Given the description of an element on the screen output the (x, y) to click on. 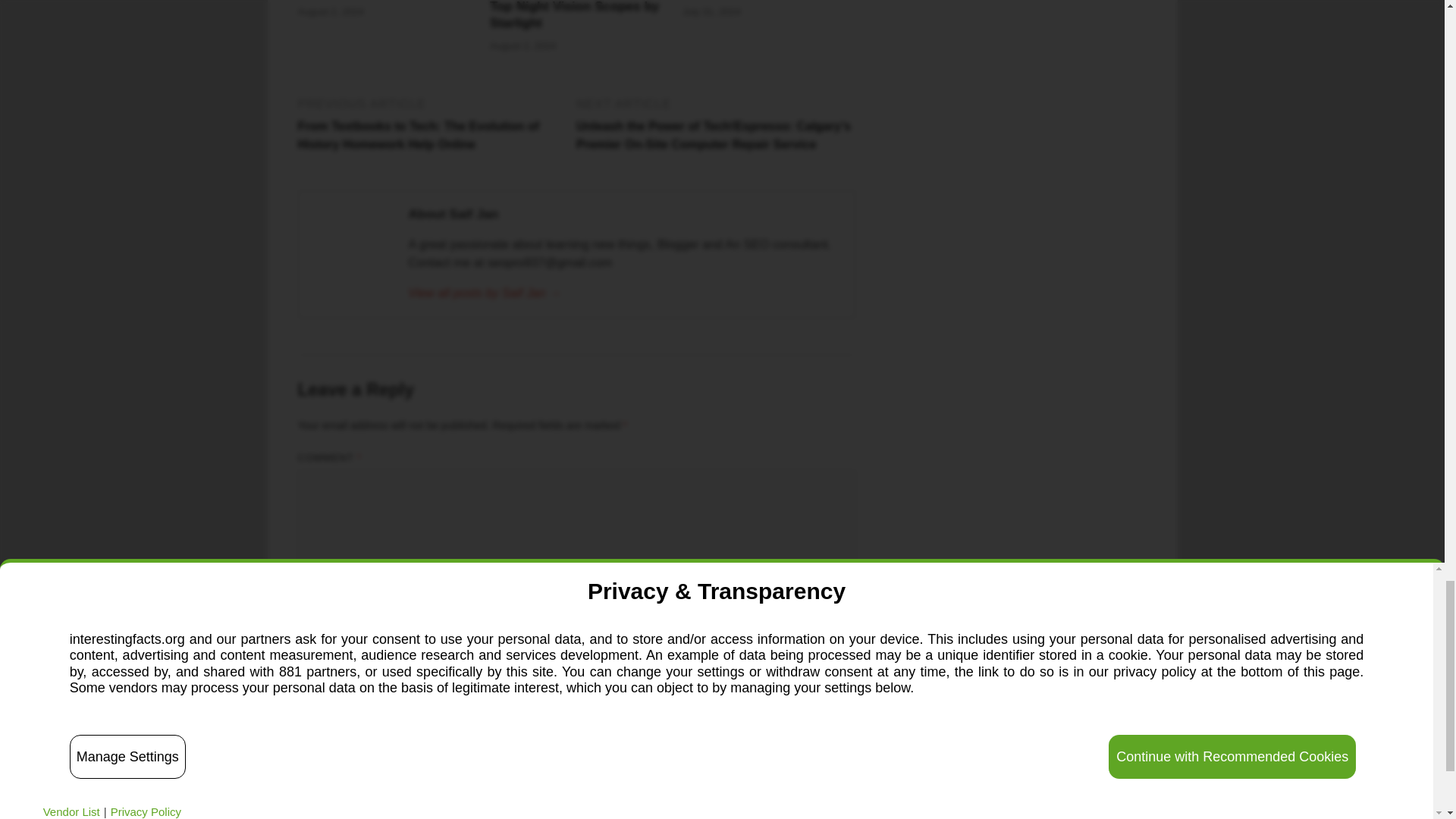
Saif Jan (622, 293)
